Given the description of an element on the screen output the (x, y) to click on. 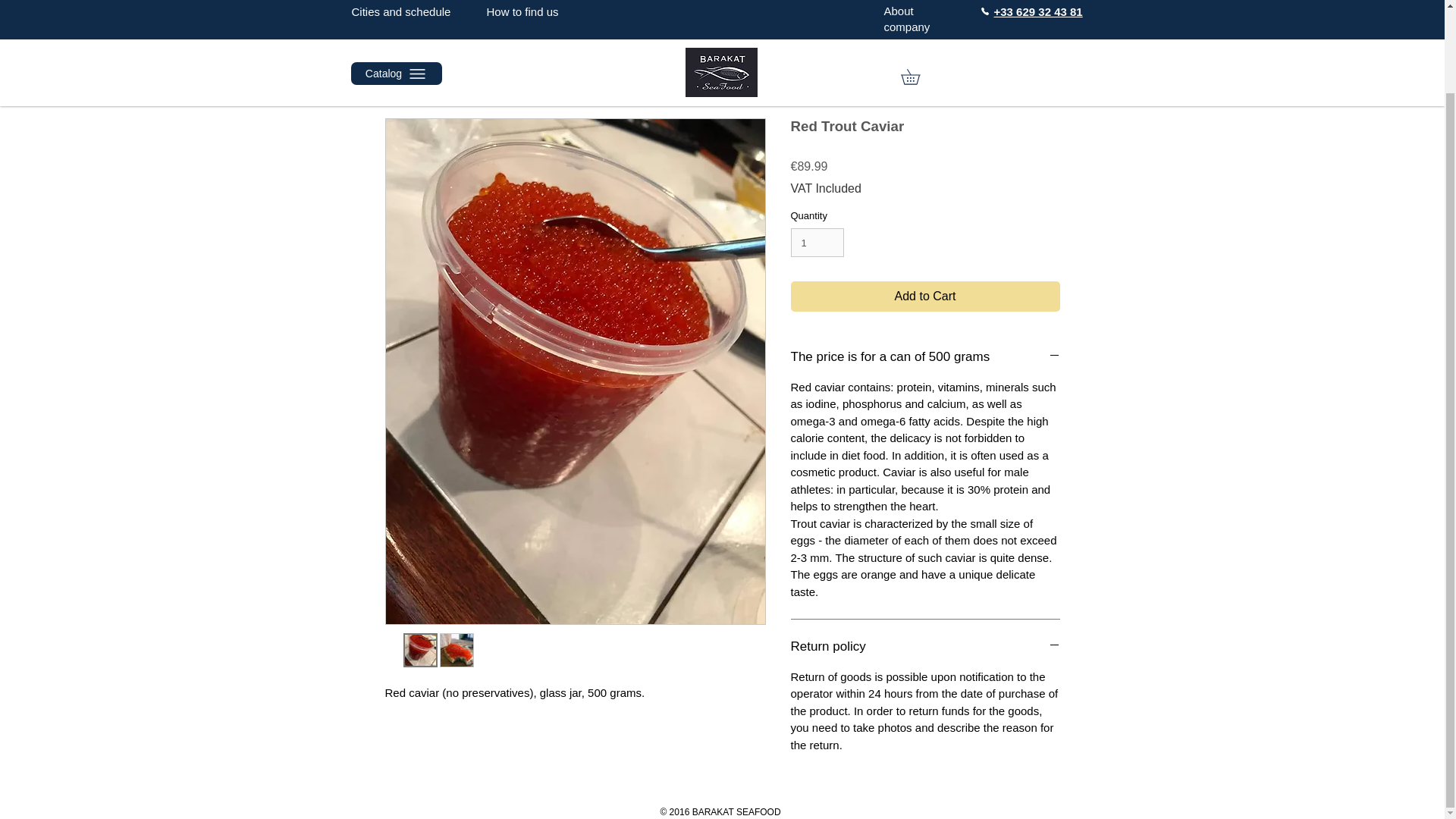
1 (817, 242)
The price is for a can of 500 grams (924, 357)
Add to Cart (924, 296)
Return policy (924, 647)
